Given the description of an element on the screen output the (x, y) to click on. 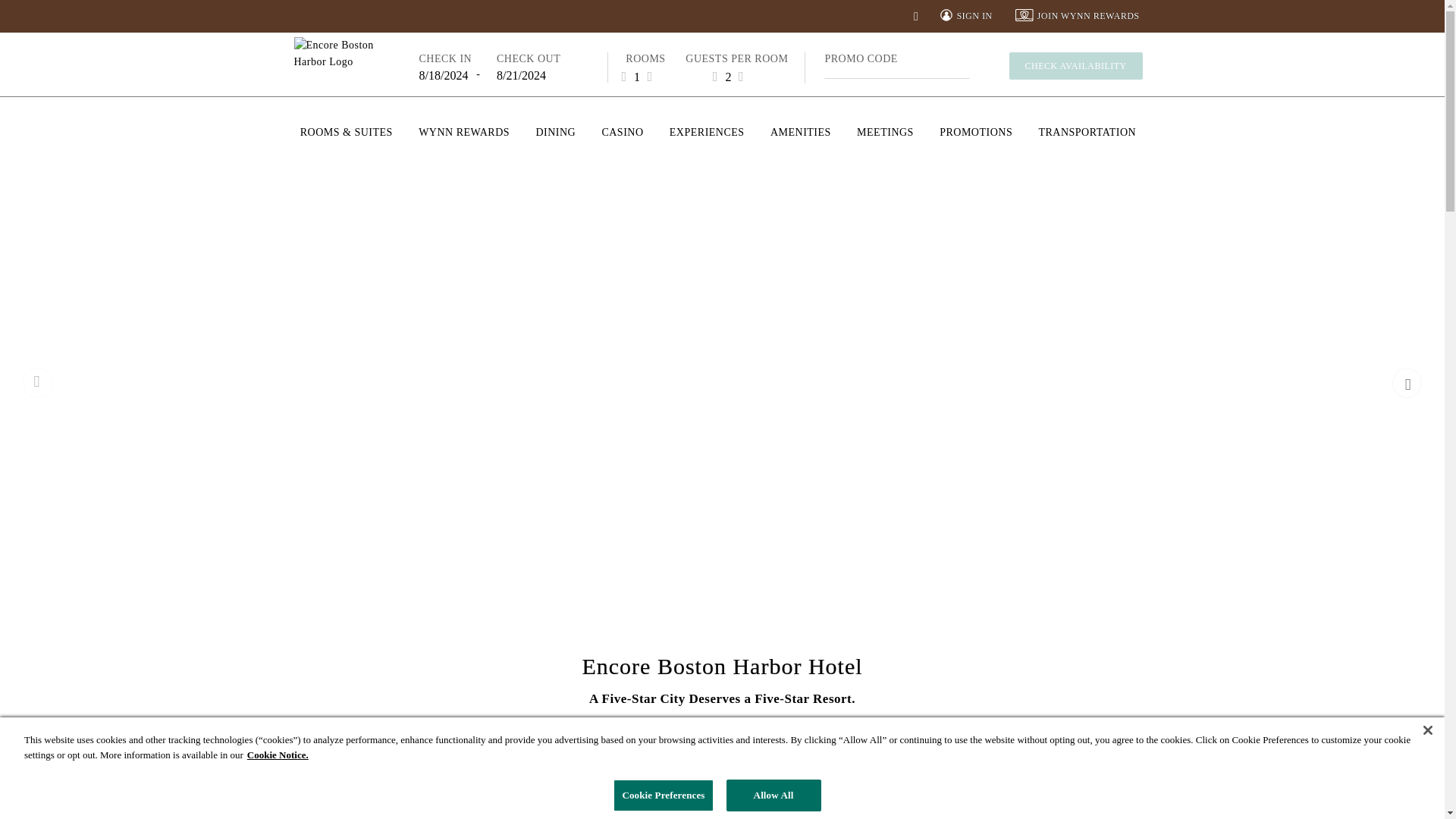
JOIN WYNN REWARDS (1077, 16)
2 (727, 75)
1 (636, 75)
CHECK AVAILABILITY (1075, 65)
SIGN IN (965, 16)
